Given the description of an element on the screen output the (x, y) to click on. 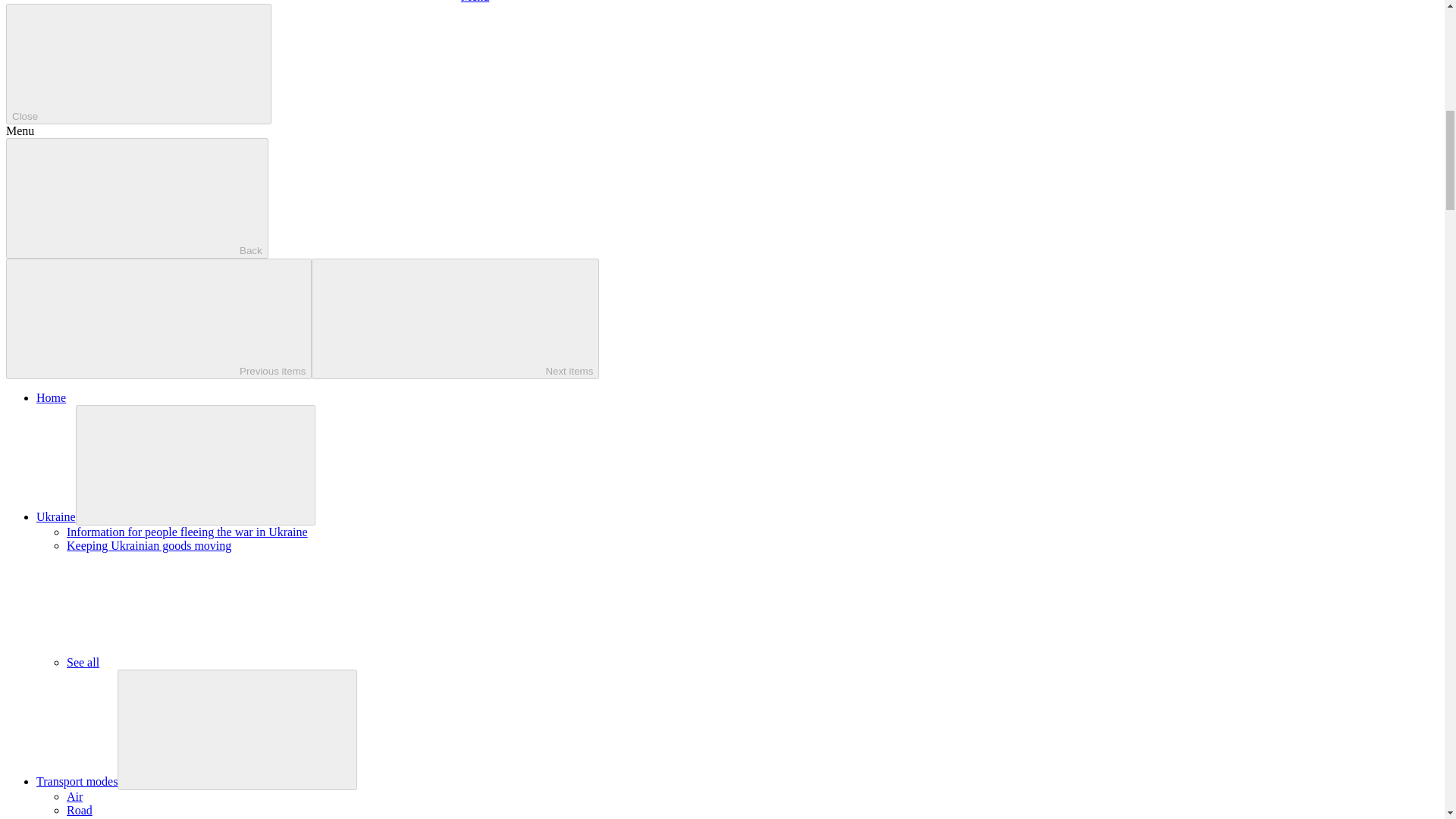
See all (196, 662)
Transport modes (76, 780)
Previous items (158, 318)
Information for people fleeing the war in Ukraine (186, 531)
Next items (454, 318)
Rail (76, 818)
Back (136, 198)
Close (137, 64)
Air (74, 796)
Keeping Ukrainian goods moving (148, 545)
Ukraine (55, 516)
Home (50, 397)
Road (79, 809)
